Given the description of an element on the screen output the (x, y) to click on. 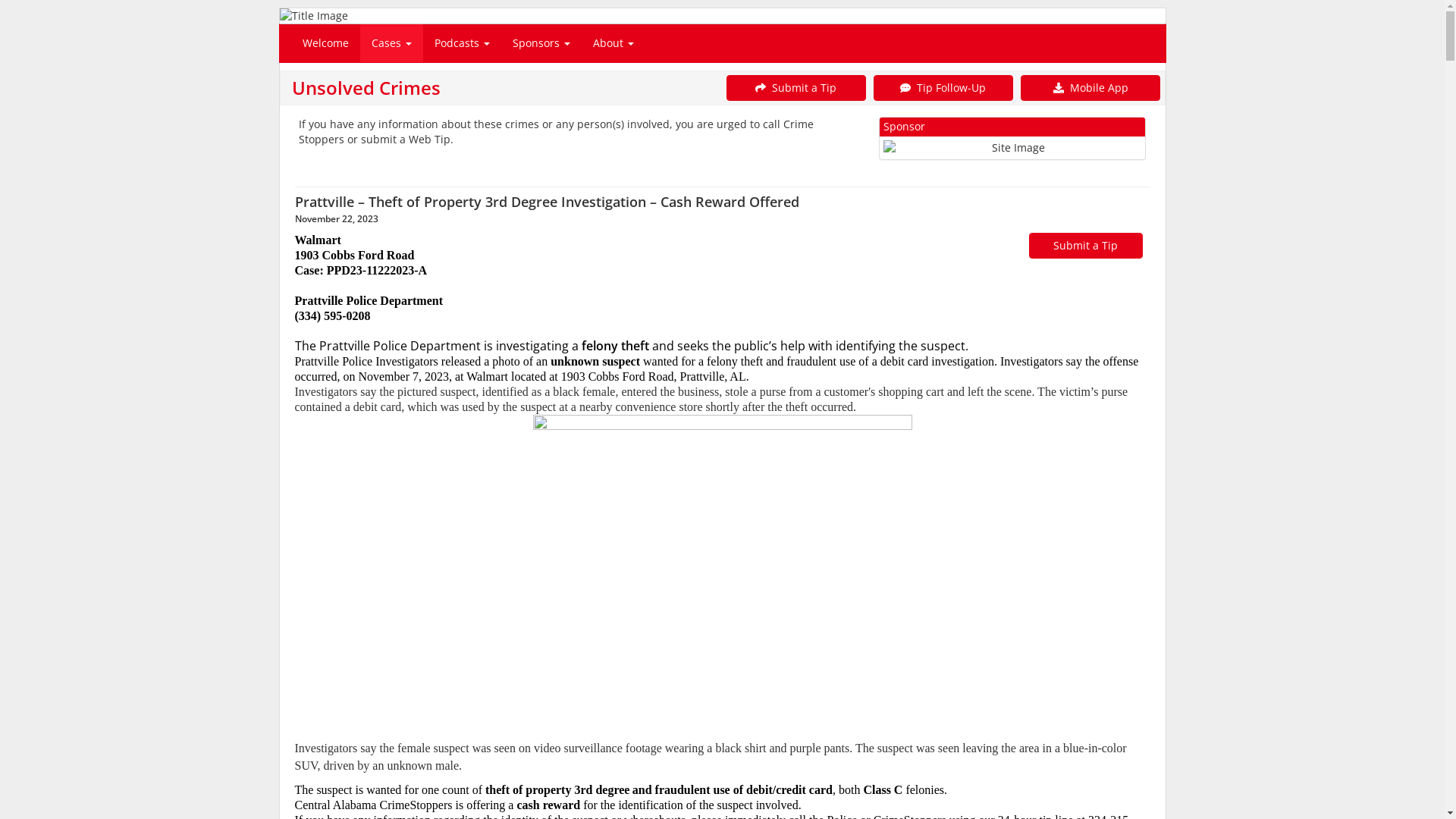
About Element type: text (612, 43)
 Tip Follow-Up Element type: text (943, 87)
Sponsors Element type: text (540, 43)
 Mobile App Element type: text (1090, 87)
Cases Element type: text (390, 43)
Submit a Tip Element type: text (1085, 245)
Podcasts Element type: text (462, 43)
Welcome Element type: text (325, 43)
Sponsor Element type: text (1012, 138)
 Submit a Tip Element type: text (796, 87)
